Given the description of an element on the screen output the (x, y) to click on. 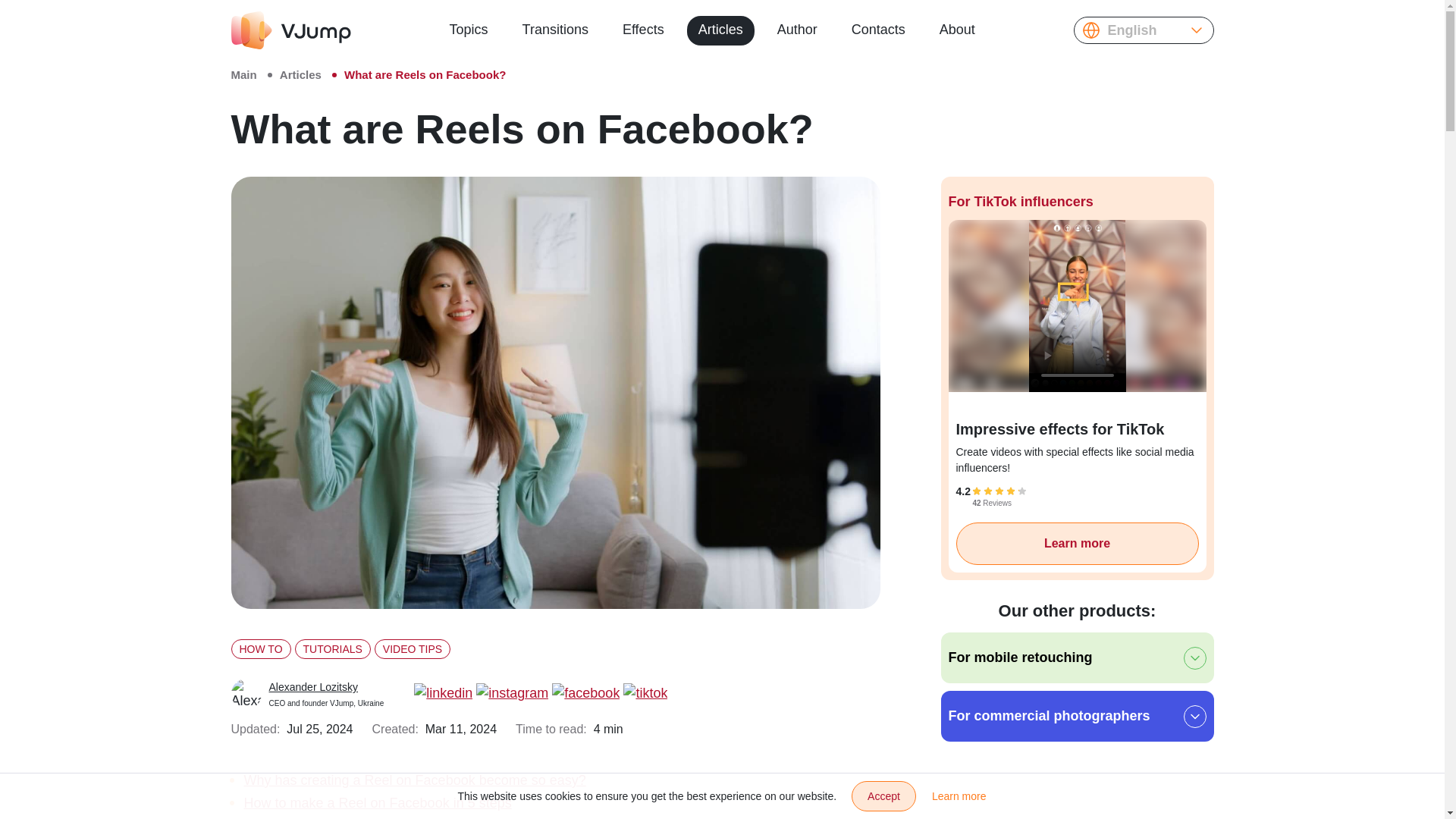
About (957, 30)
Effects (643, 30)
Topics (468, 30)
Articles (300, 74)
TUTORIALS (333, 649)
Contacts (878, 30)
Why has creating a Reel on Facebook become so easy? (415, 780)
HOW TO (259, 649)
English (1143, 30)
Articles (720, 30)
How to make a Reel on Facebook in 5 steps (378, 802)
Main (307, 693)
Transitions (243, 74)
